Given the description of an element on the screen output the (x, y) to click on. 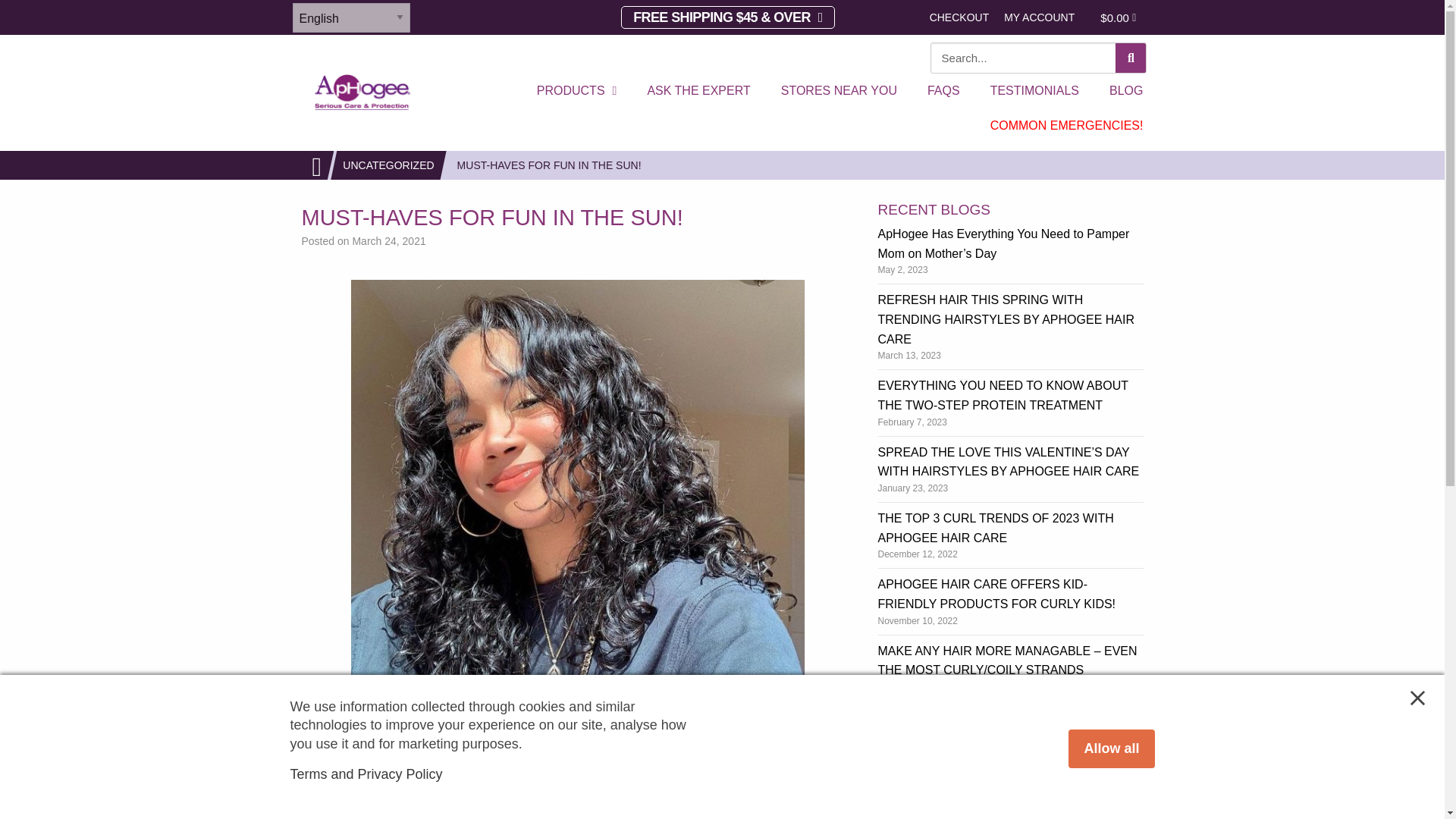
MUST-HAVES FOR FUN IN THE SUN! (549, 164)
STORES NEAR YOU (838, 90)
TESTIMONIALS (1034, 90)
MY ACCOUNT (1038, 17)
Uncategorized (387, 164)
ASK THE EXPERT (698, 90)
COMMON EMERGENCIES! (1066, 125)
FAQS (943, 90)
CHECKOUT (959, 17)
PRODUCTS (576, 90)
BLOG (1125, 90)
